Given the description of an element on the screen output the (x, y) to click on. 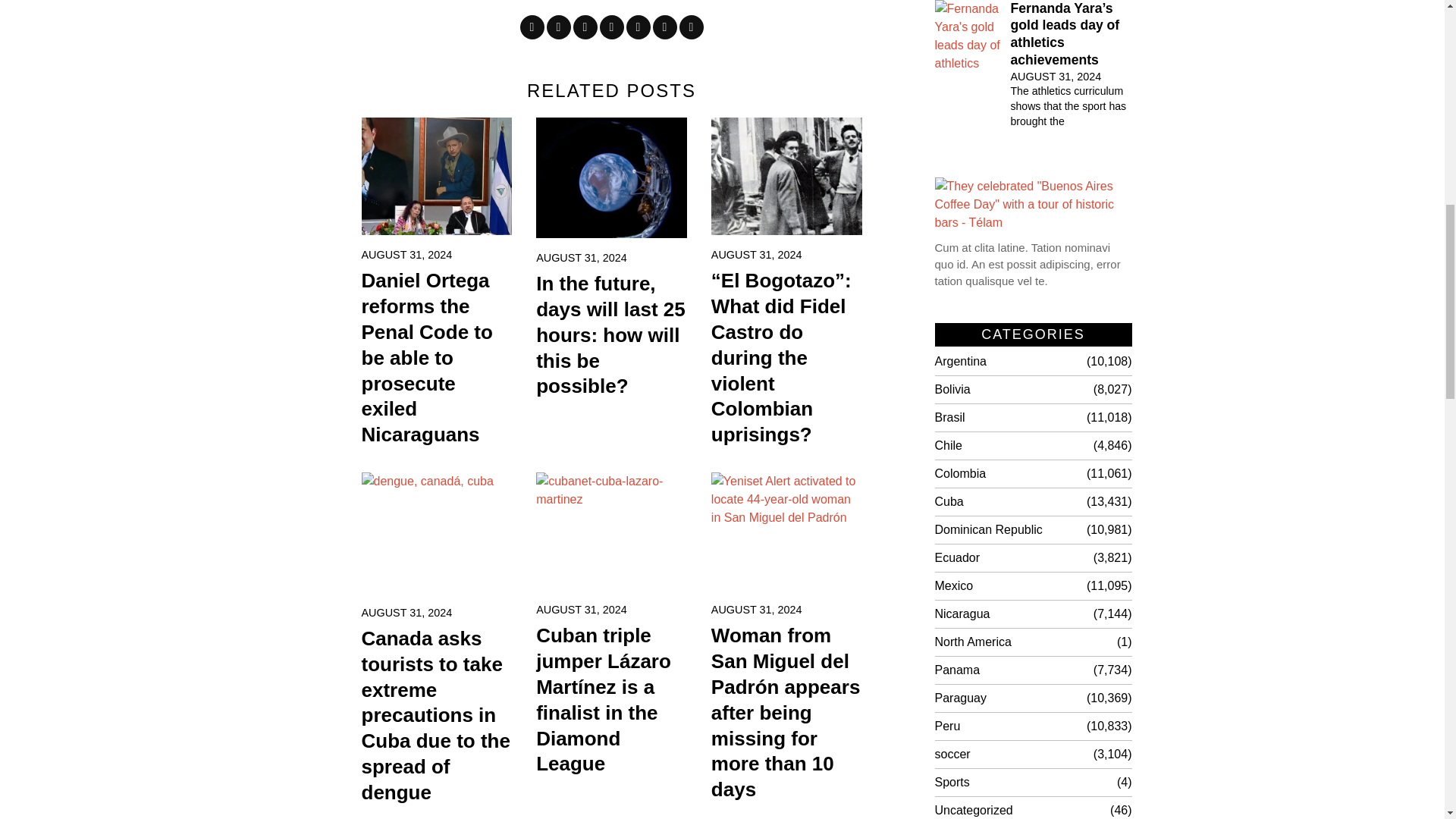
31 Aug, 2024 20:13:38 (756, 254)
31 Aug, 2024 18:08:36 (581, 609)
31 Aug, 2024 17:10:35 (756, 609)
31 Aug, 2024 21:08:39 (581, 257)
31 Aug, 2024 19:09:37 (406, 612)
31 Aug, 2024 22:08:40 (406, 254)
31 Aug, 2024 22:11:57 (1055, 76)
